Given the description of an element on the screen output the (x, y) to click on. 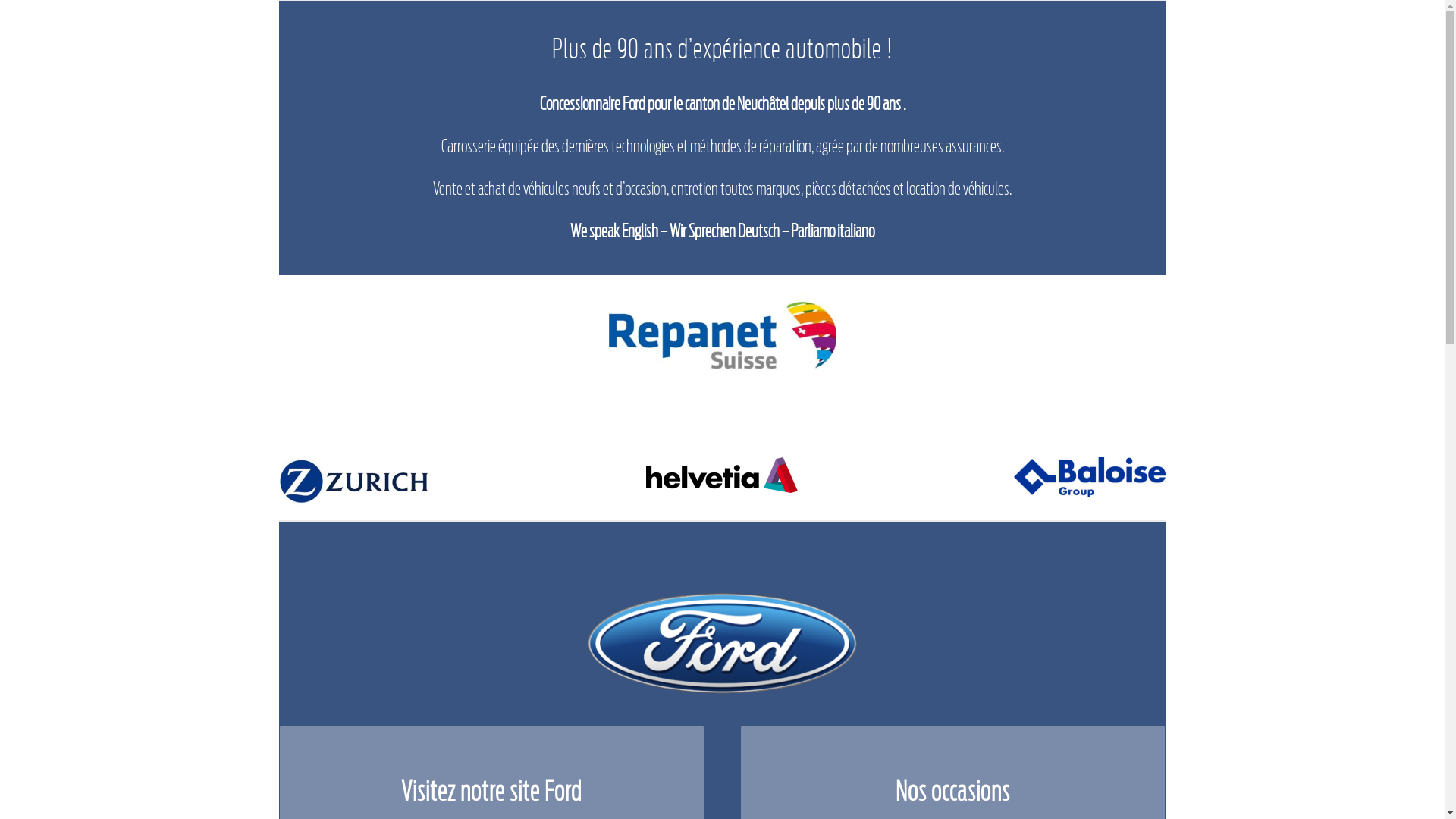
1200x675_Repanet+Suisse Element type: hover (721, 339)
jpg_BA_Group_blue-2 Element type: hover (1089, 477)
5266 Element type: hover (354, 481)
Logo_Helvetia_(assurance).svg Element type: hover (721, 474)
